Given the description of an element on the screen output the (x, y) to click on. 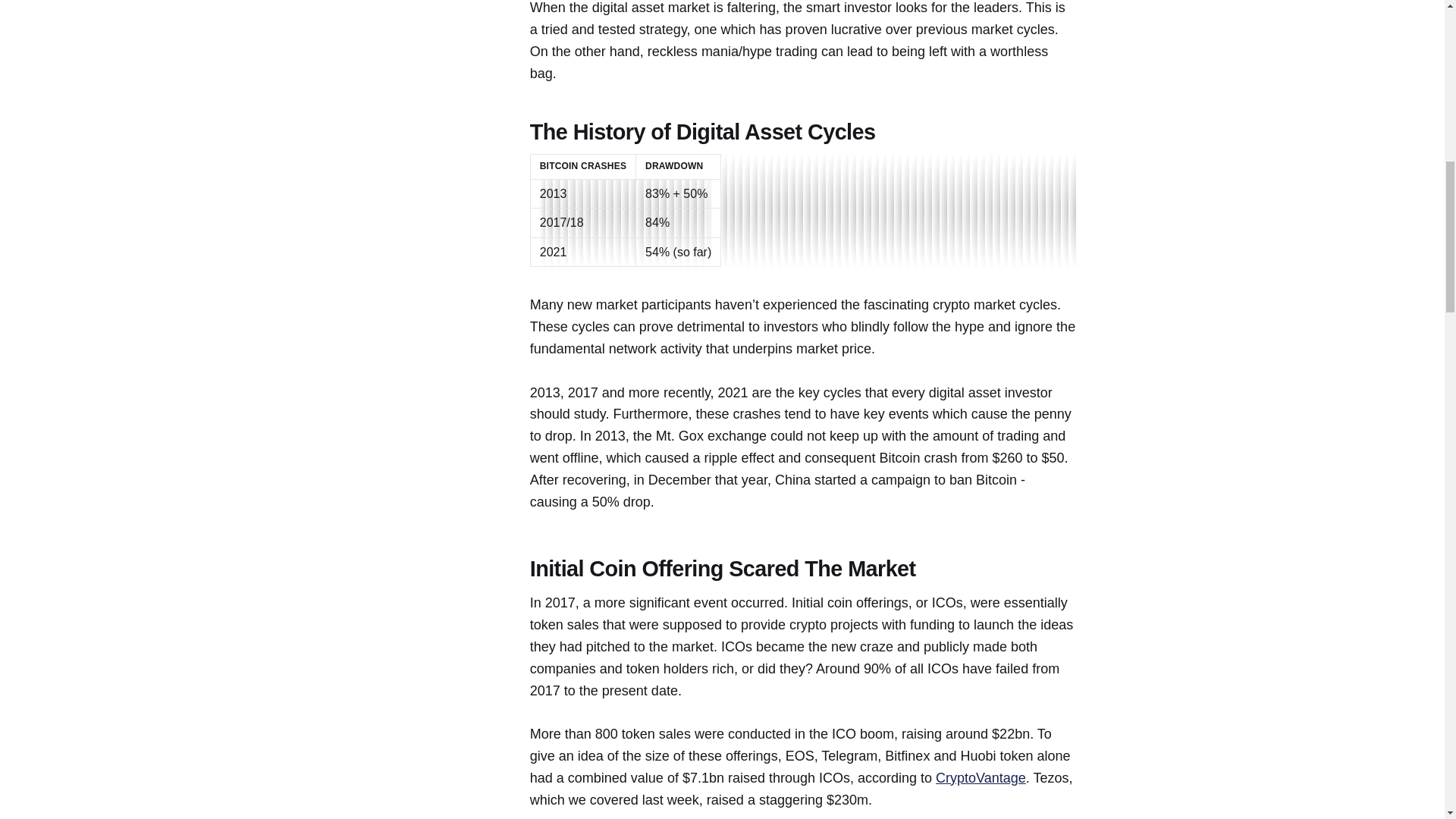
CryptoVantage (981, 777)
